Given the description of an element on the screen output the (x, y) to click on. 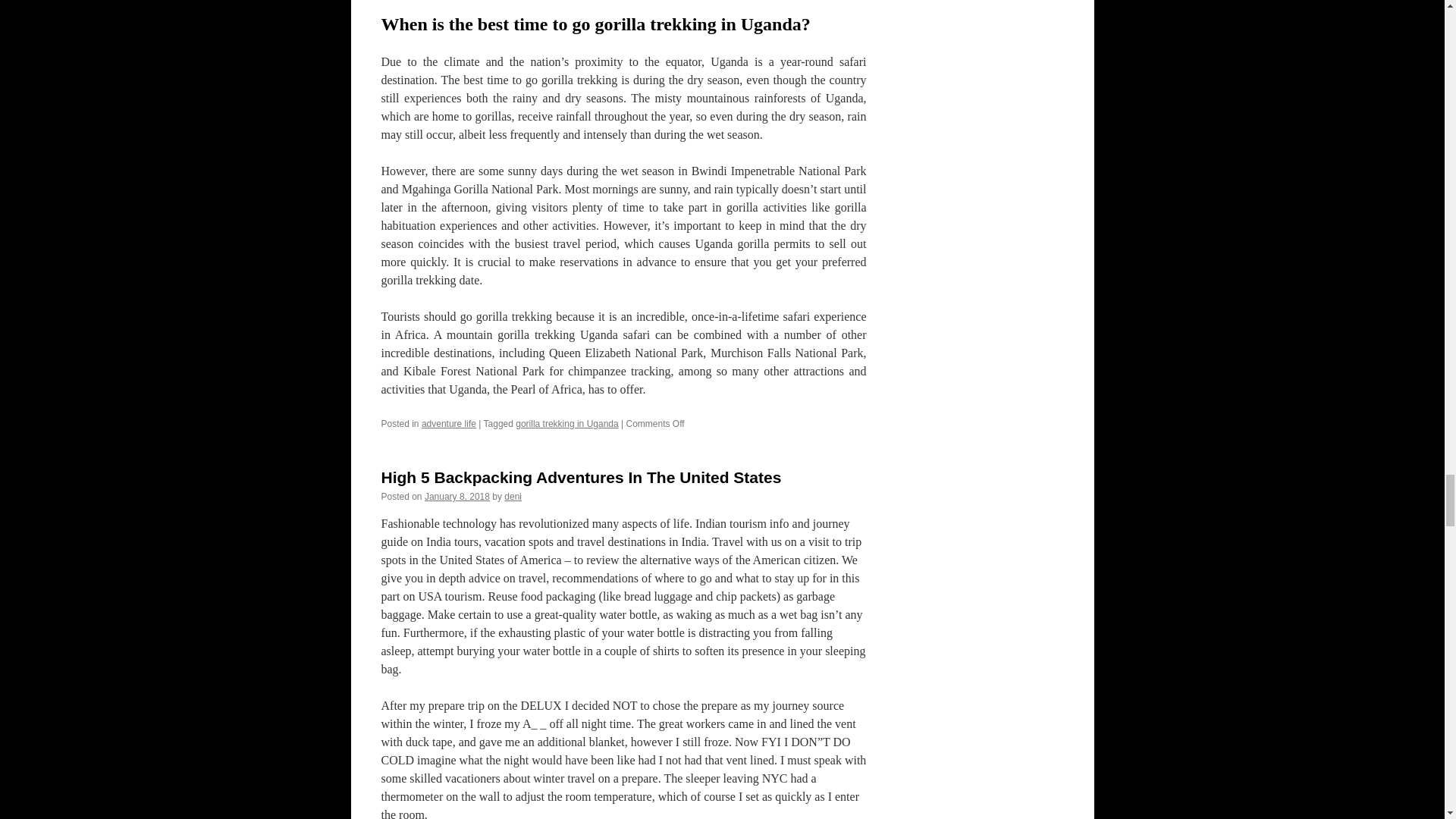
11:56 am (457, 496)
adventure life (449, 423)
High 5 Backpacking Adventures In The United States (580, 477)
gorilla trekking in Uganda (566, 423)
View all posts by deni (512, 496)
January 8, 2018 (457, 496)
